Given the description of an element on the screen output the (x, y) to click on. 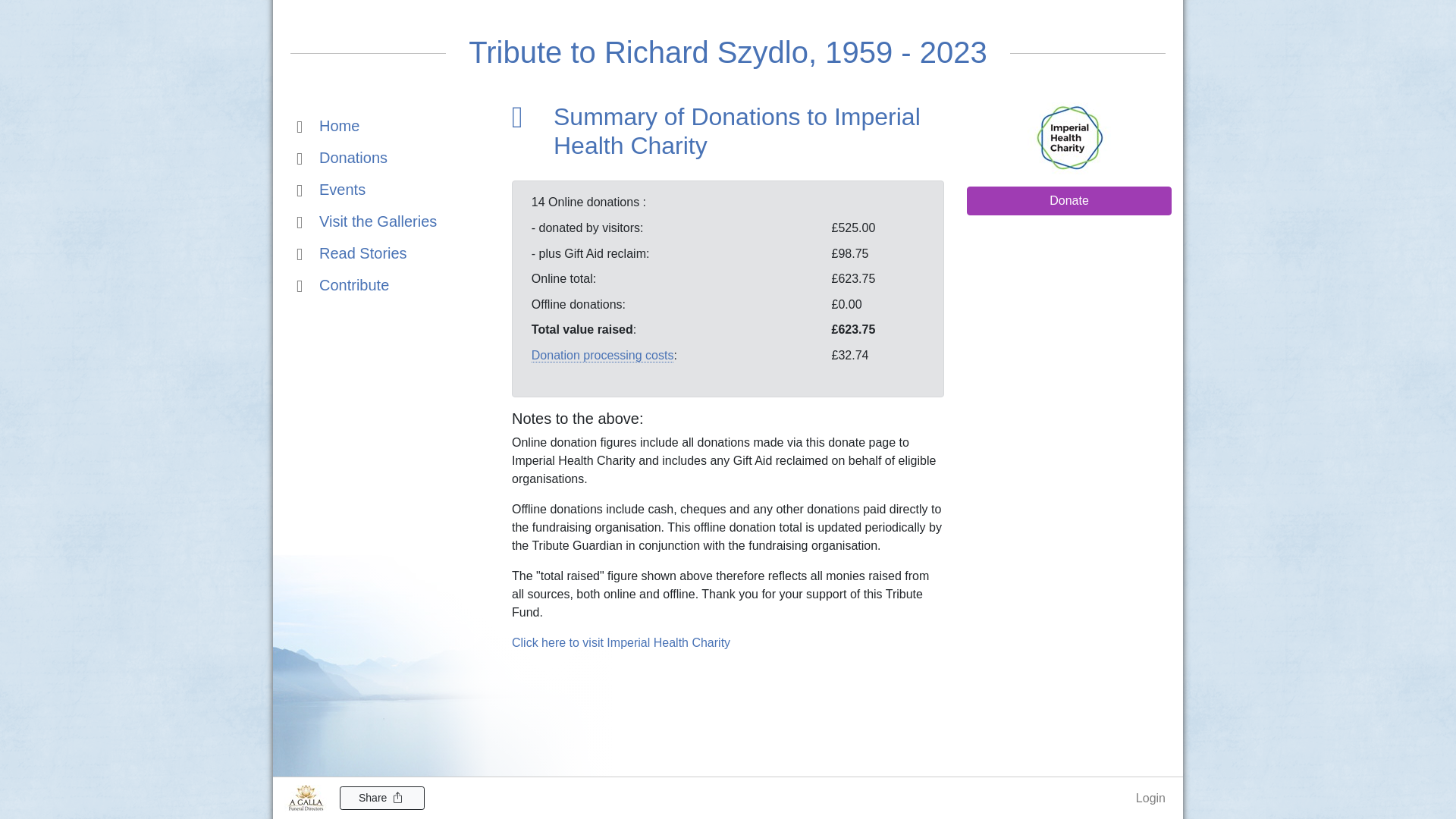
Home (328, 124)
Donations (342, 155)
Read Stories (352, 251)
Visit the Galleries (366, 219)
Tribute to Richard Szydlo, 1959 - 2023 (727, 52)
Events (331, 187)
